Given the description of an element on the screen output the (x, y) to click on. 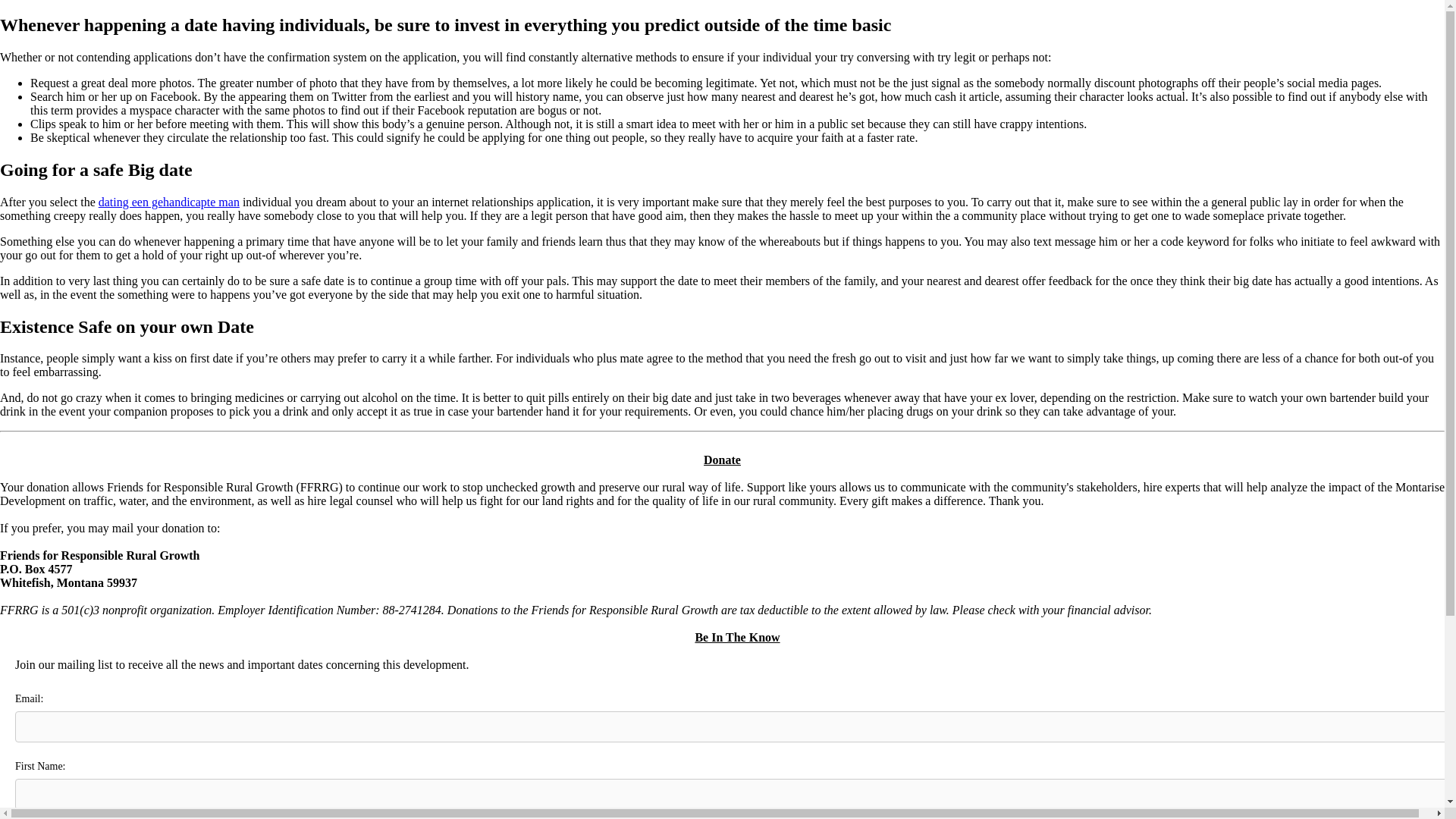
dating een gehandicapte man (169, 201)
